Given the description of an element on the screen output the (x, y) to click on. 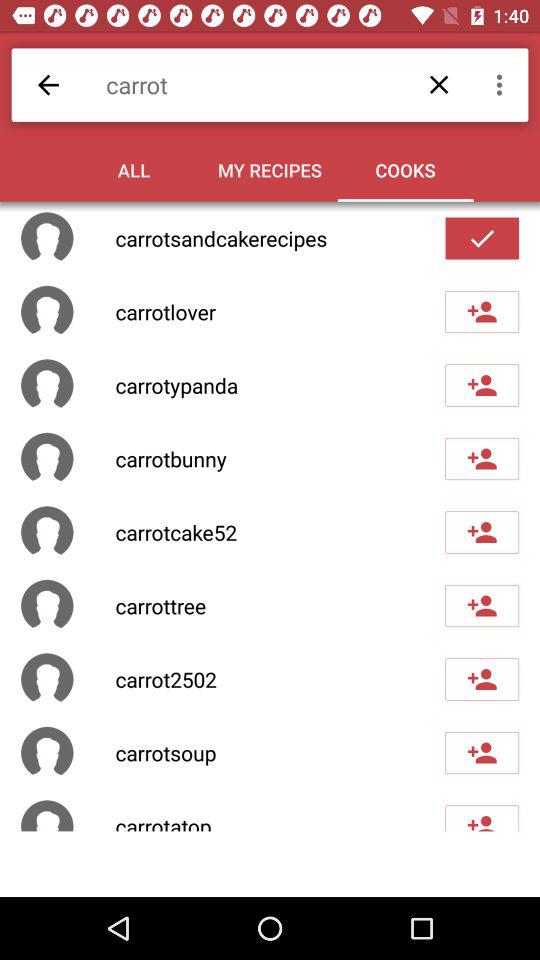
open the item above all icon (280, 84)
